Given the description of an element on the screen output the (x, y) to click on. 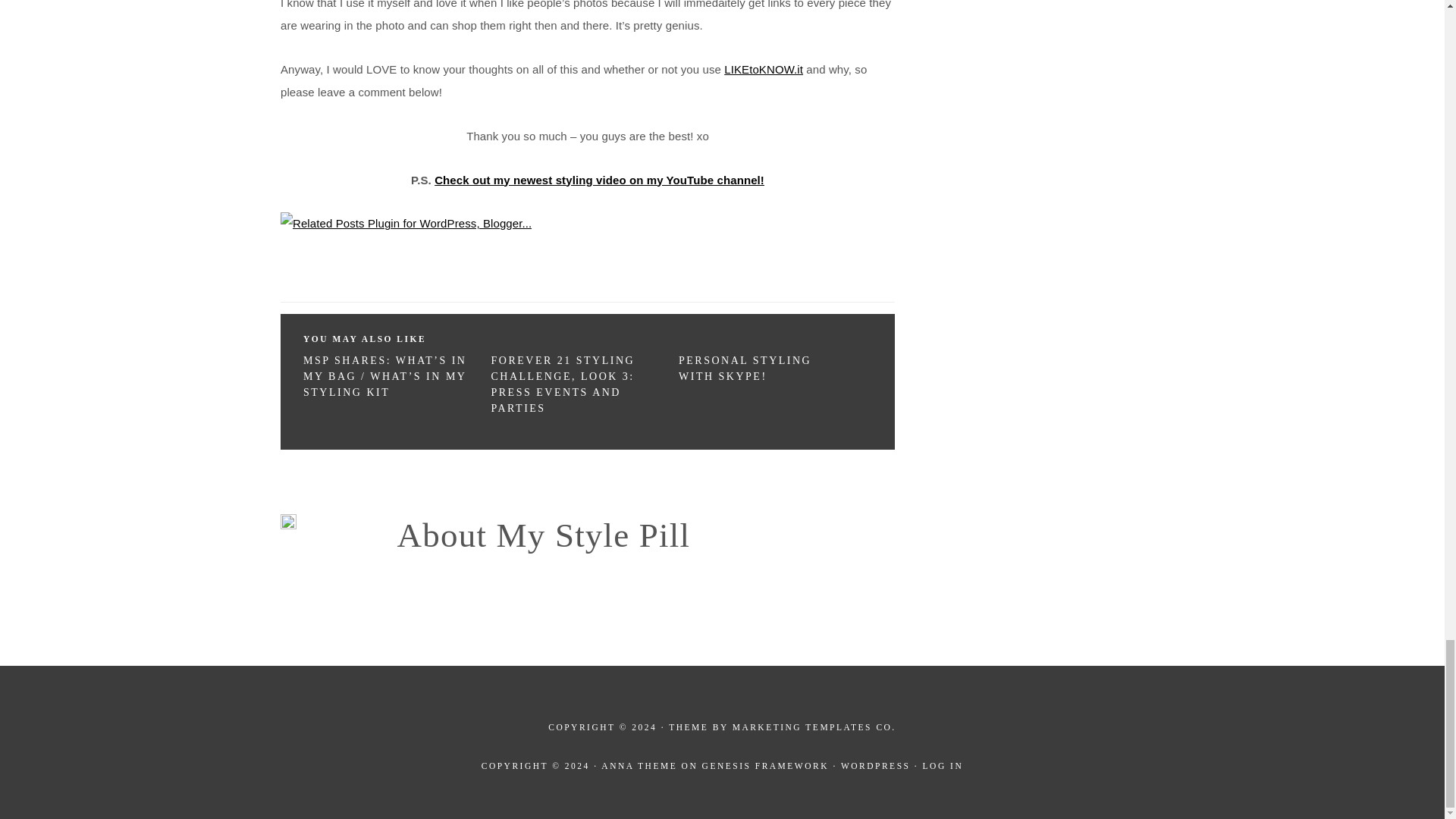
Personal Styling with Skype! (744, 368)
LIKEtoKNOW.it (763, 69)
